Given the description of an element on the screen output the (x, y) to click on. 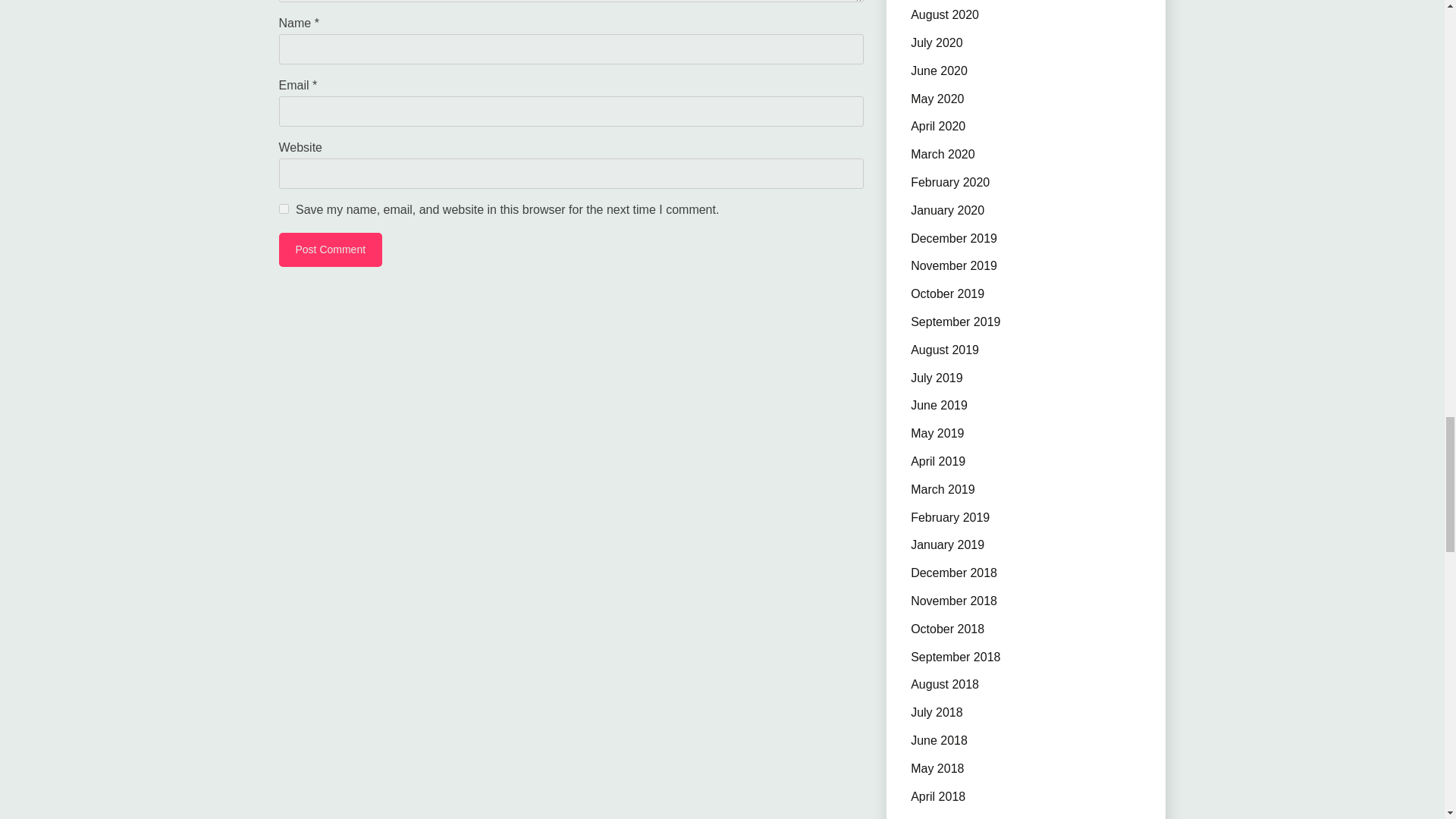
Post Comment (330, 249)
Post Comment (330, 249)
yes (283, 208)
